Given the description of an element on the screen output the (x, y) to click on. 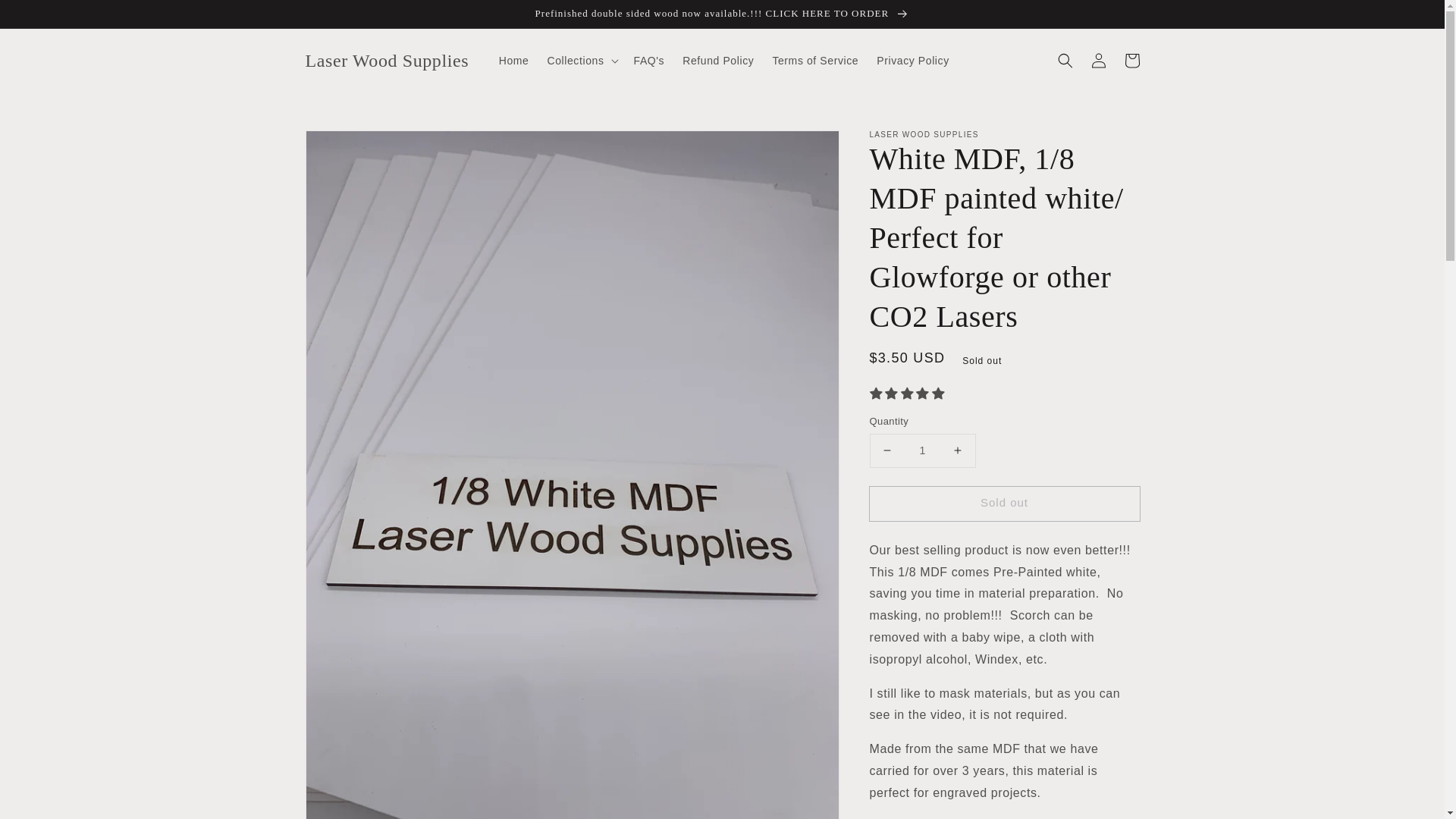
1 (922, 450)
Skip to content (45, 16)
Home (513, 60)
Laser Wood Supplies (386, 60)
